Given the description of an element on the screen output the (x, y) to click on. 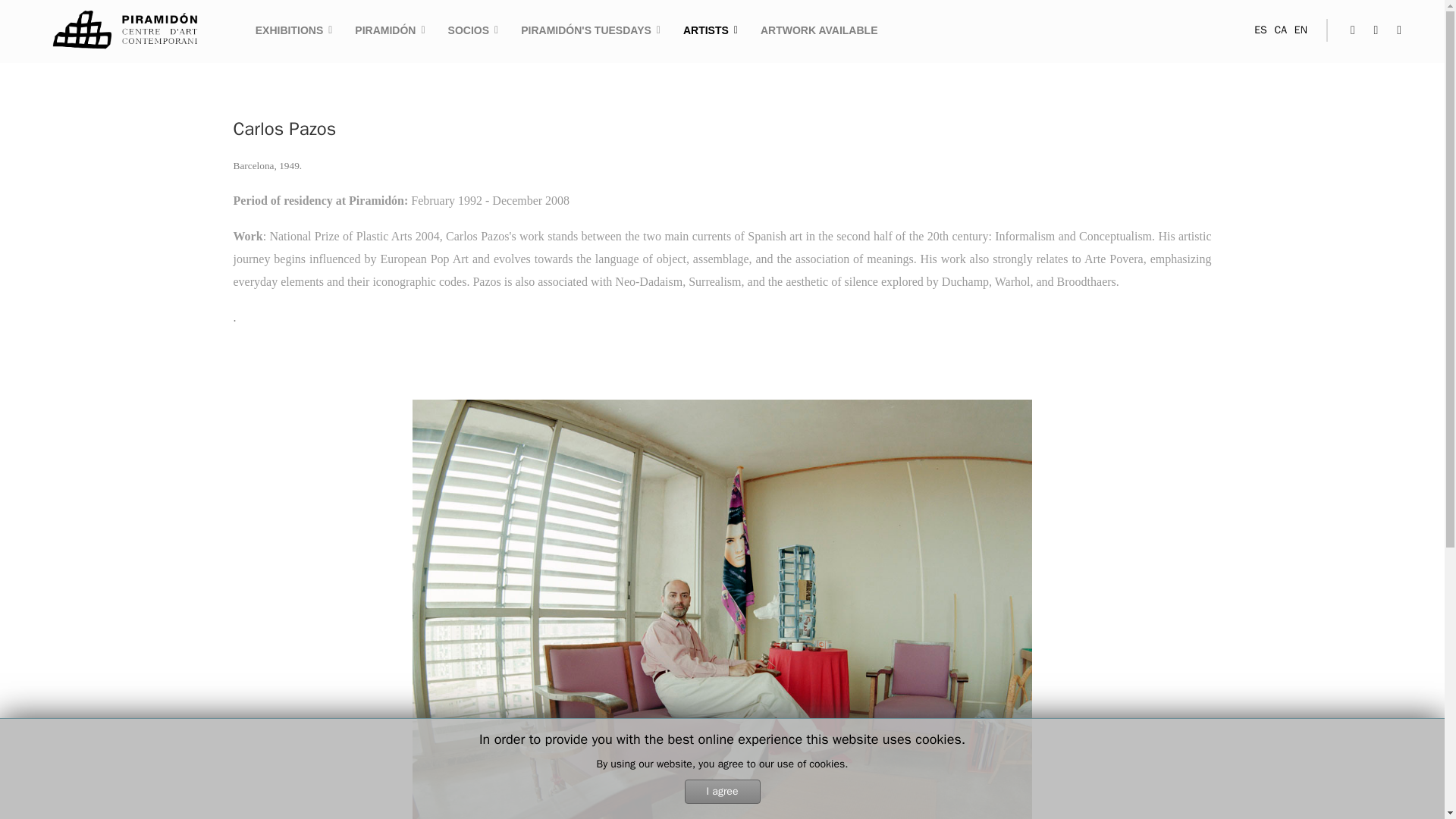
EXHIBITIONS (293, 30)
SOCIOS (473, 30)
CA (1280, 29)
EN (1300, 29)
ARTISTS (710, 30)
ARTWORK AVAILABLE (813, 30)
ES (1259, 29)
